Given the description of an element on the screen output the (x, y) to click on. 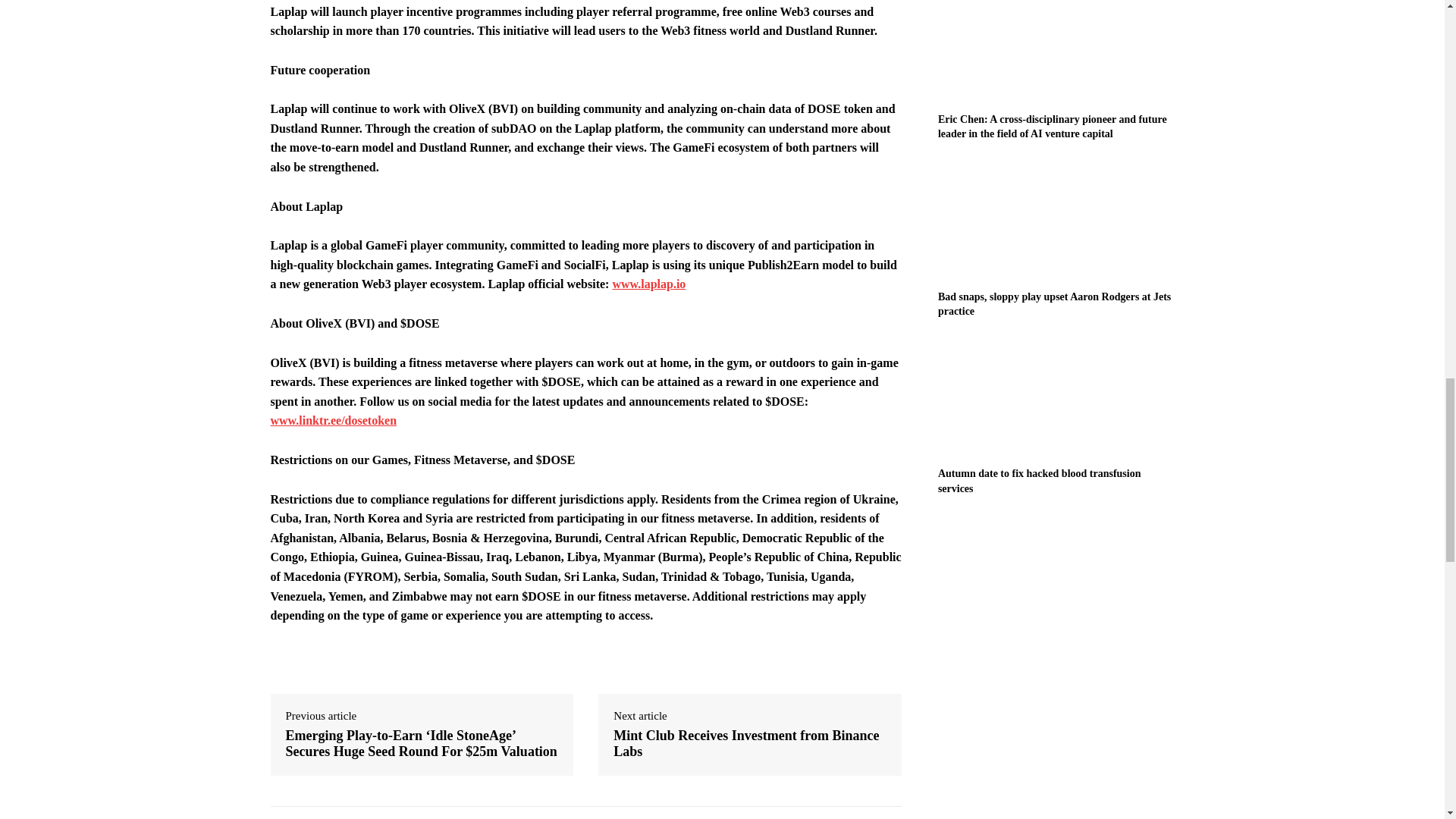
Mint Club Receives Investment from Binance Labs (749, 744)
www.laplap.io (648, 283)
